Given the description of an element on the screen output the (x, y) to click on. 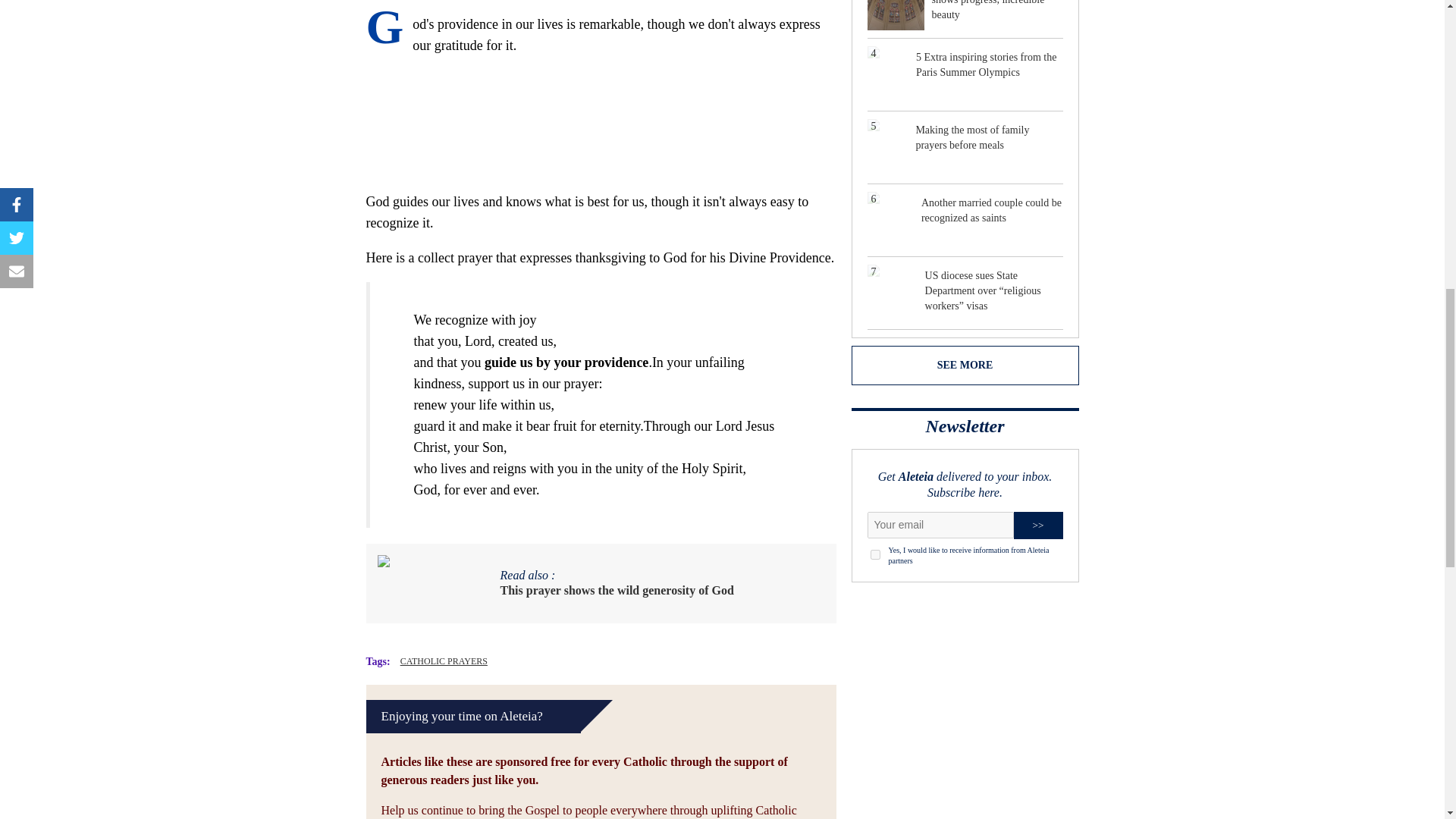
CATHOLIC PRAYERS (444, 661)
1 (875, 554)
This prayer shows the wild generosity of God (616, 590)
